Given the description of an element on the screen output the (x, y) to click on. 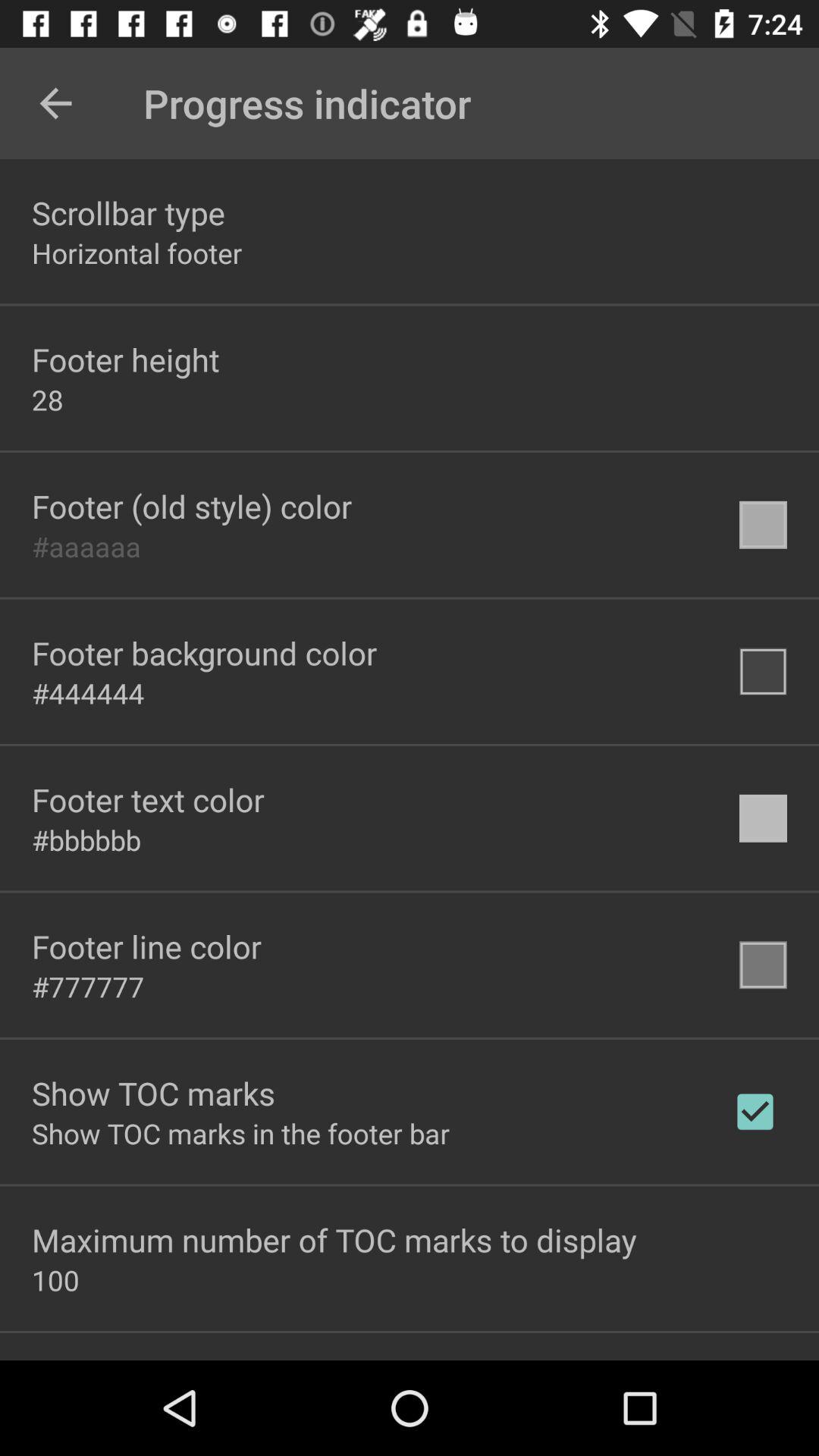
flip to the #aaaaaa icon (86, 546)
